Given the description of an element on the screen output the (x, y) to click on. 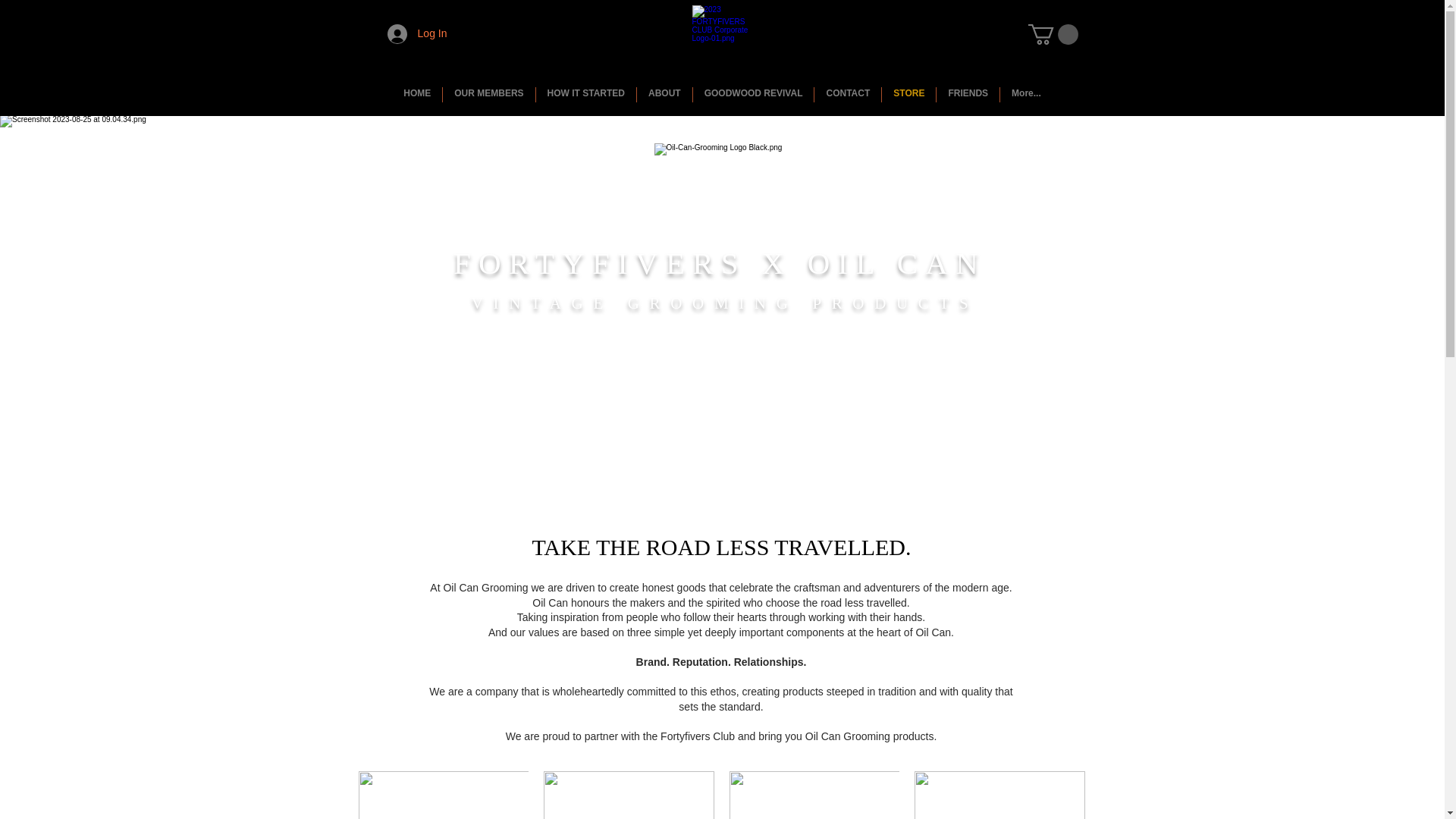
FRIENDS (967, 94)
ABOUT (665, 94)
GOODWOOD REVIVAL (753, 94)
Log In (417, 33)
STORE (909, 94)
CONTACT (846, 94)
HOW IT STARTED (585, 94)
HOME (416, 94)
OUR MEMBERS (488, 94)
